Given the description of an element on the screen output the (x, y) to click on. 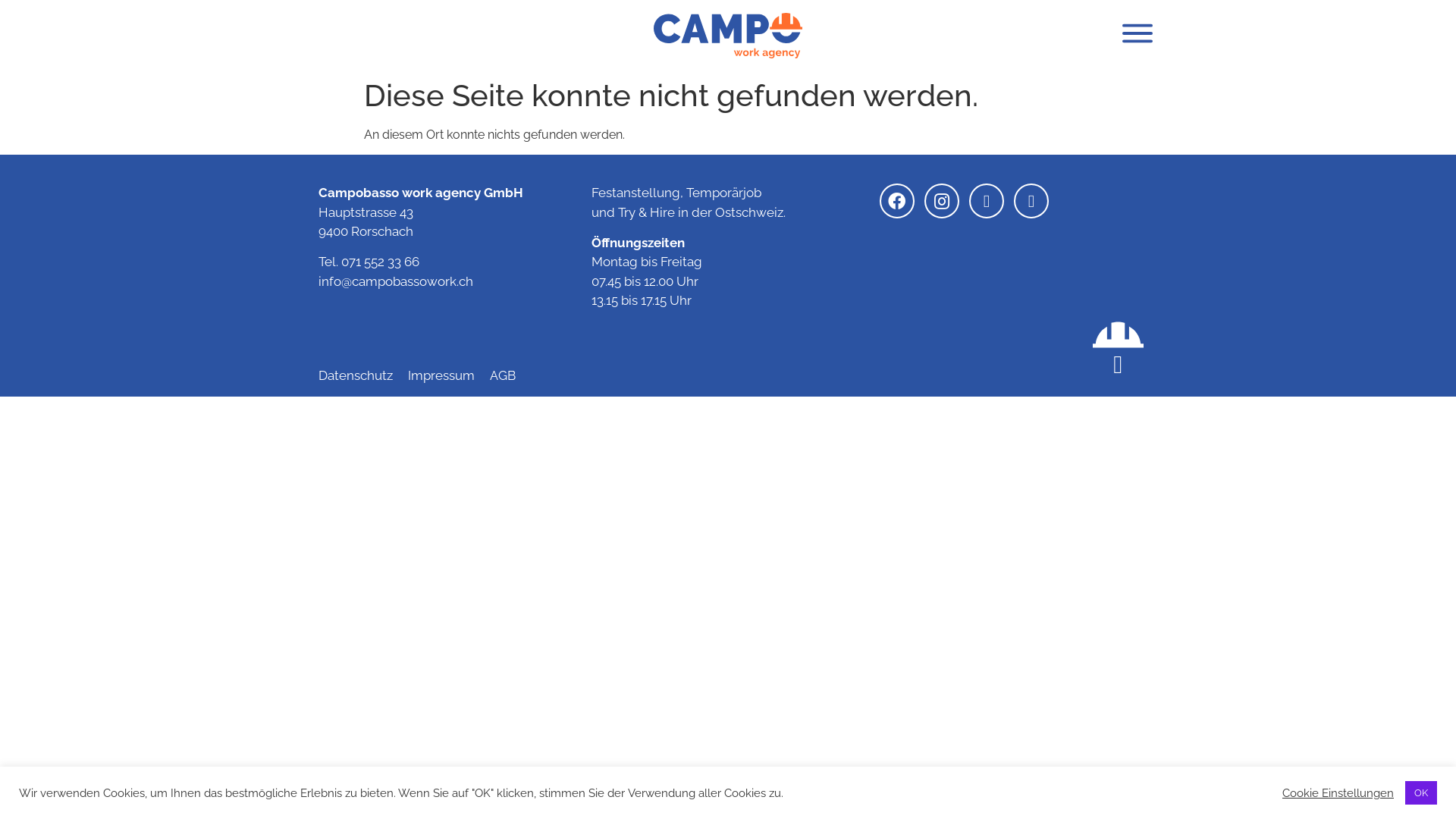
Cookie Einstellungen Element type: text (1337, 792)
OK Element type: text (1421, 792)
Datenschutz Element type: text (362, 375)
Impressum Element type: text (448, 375)
AGB Element type: text (509, 375)
